Given the description of an element on the screen output the (x, y) to click on. 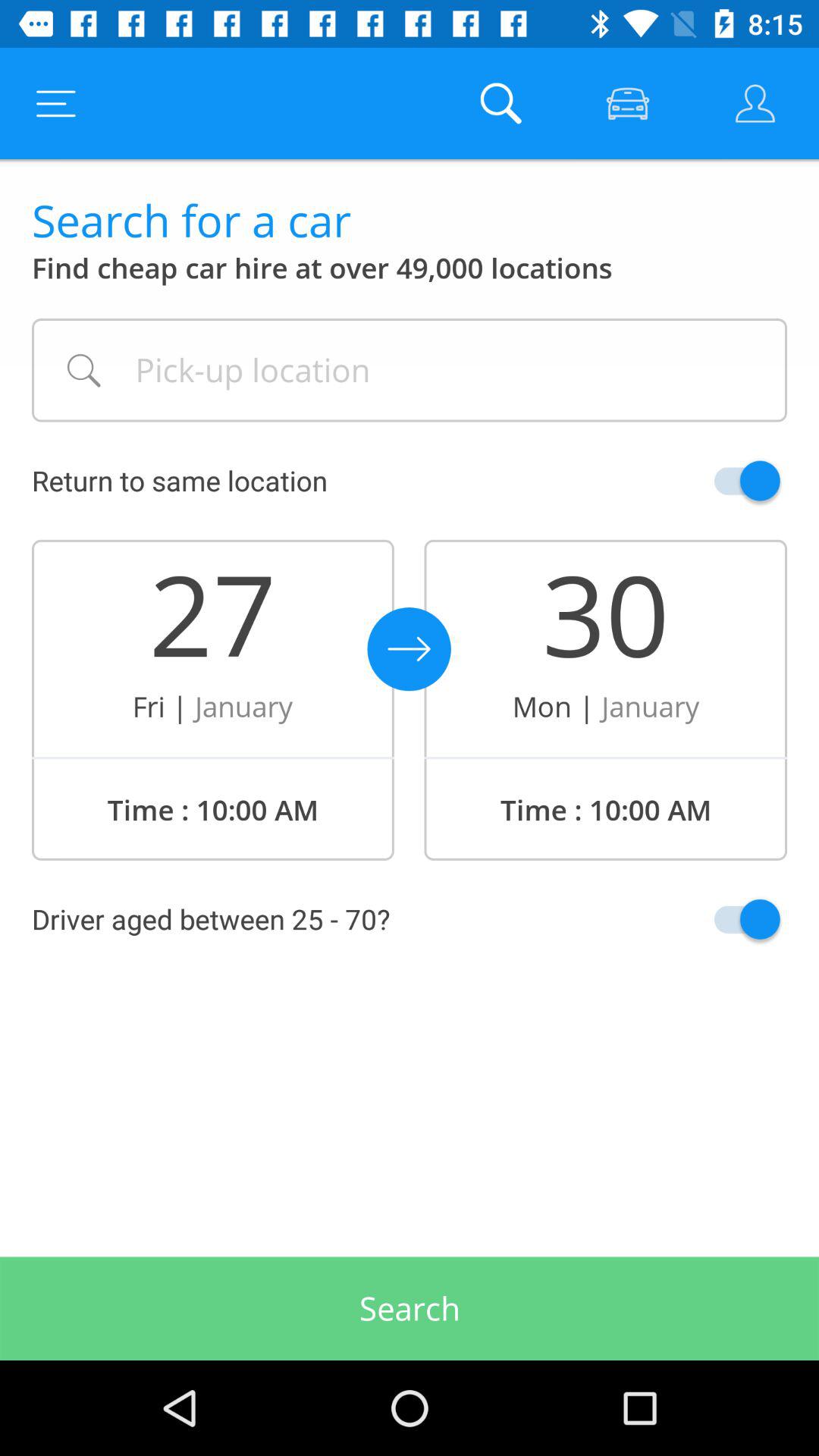
acknowledge information (711, 919)
